Given the description of an element on the screen output the (x, y) to click on. 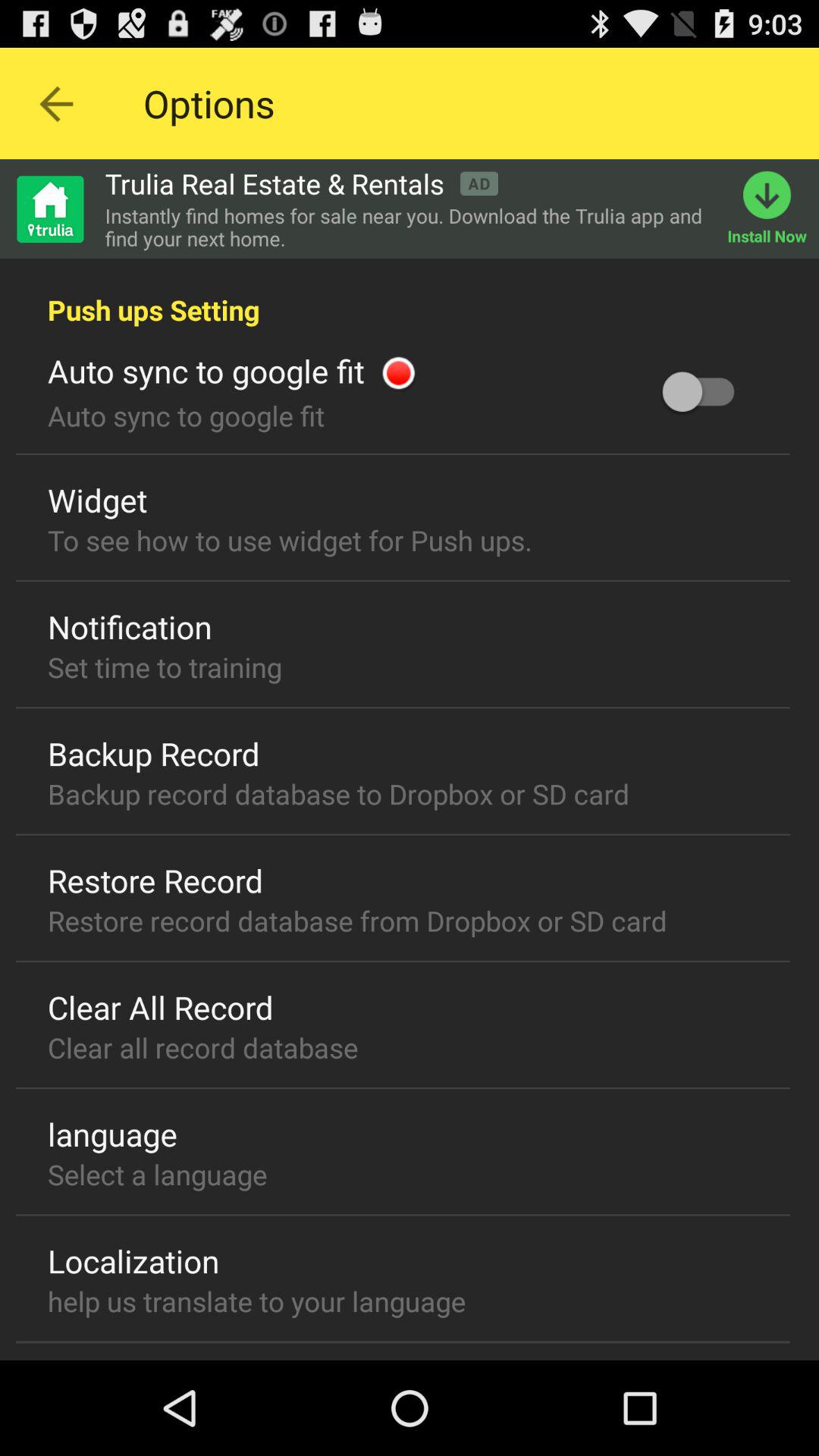
go back (55, 103)
